Given the description of an element on the screen output the (x, y) to click on. 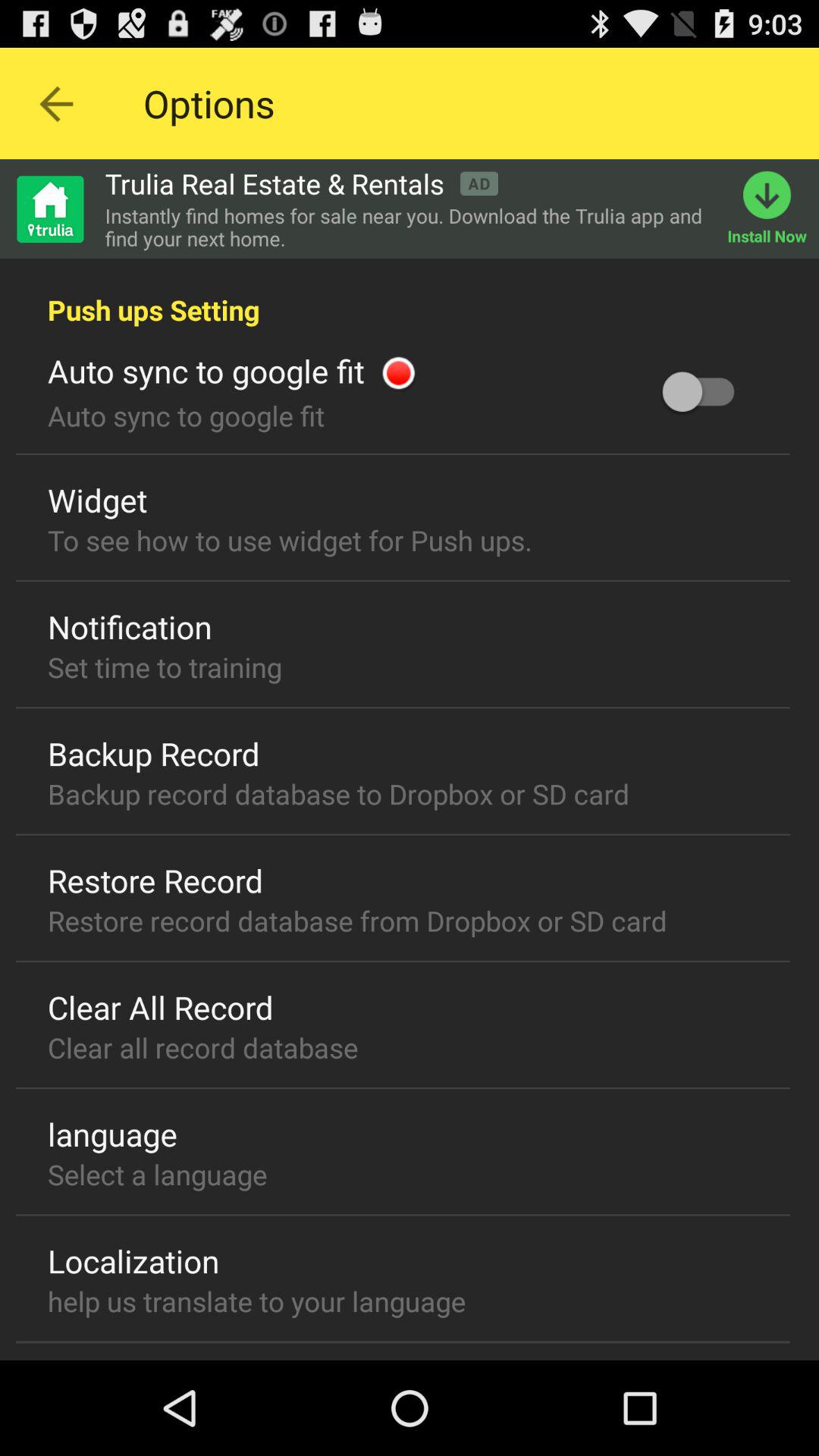
go back (55, 103)
